Given the description of an element on the screen output the (x, y) to click on. 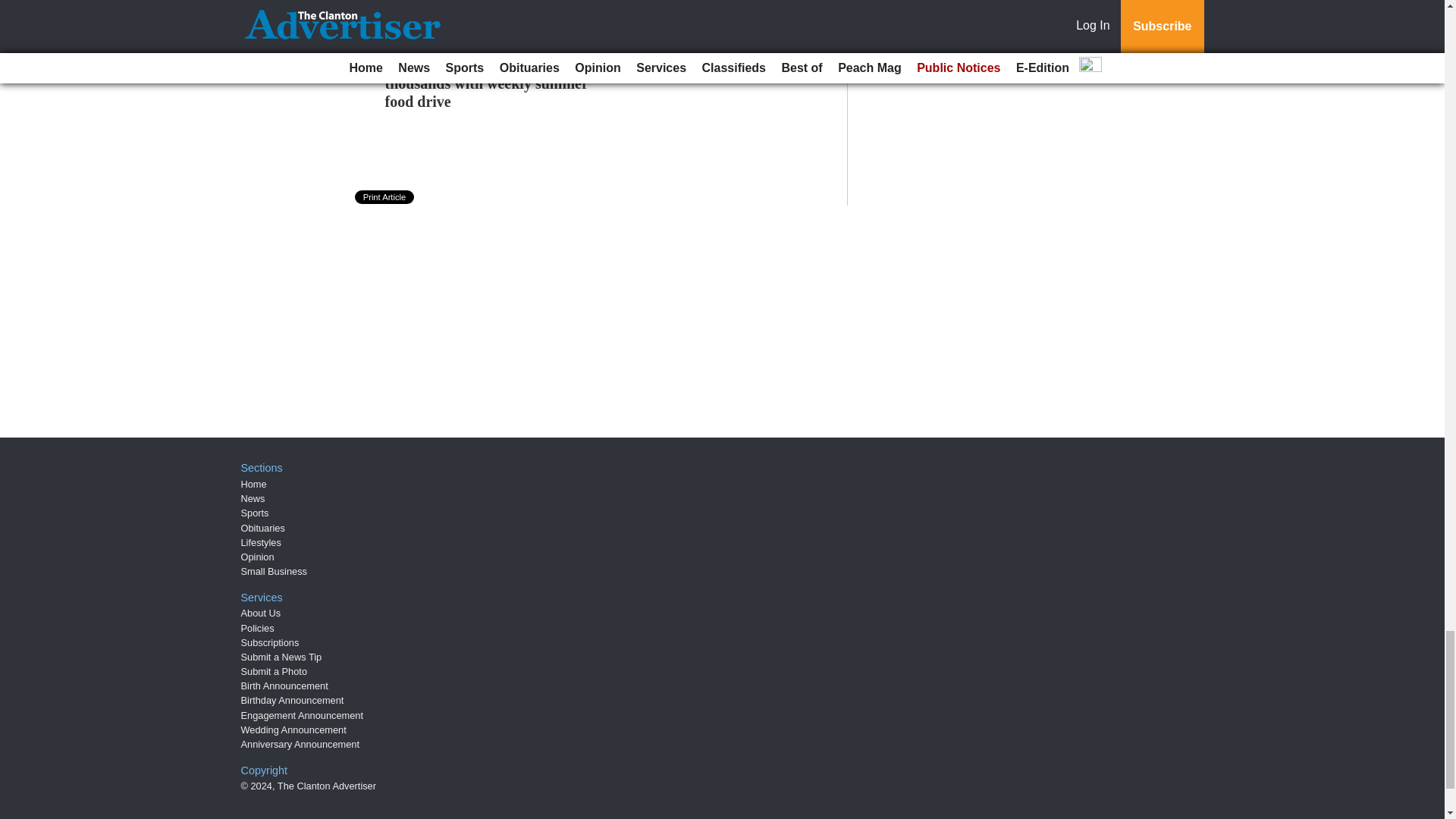
Print Article (384, 196)
